Given the description of an element on the screen output the (x, y) to click on. 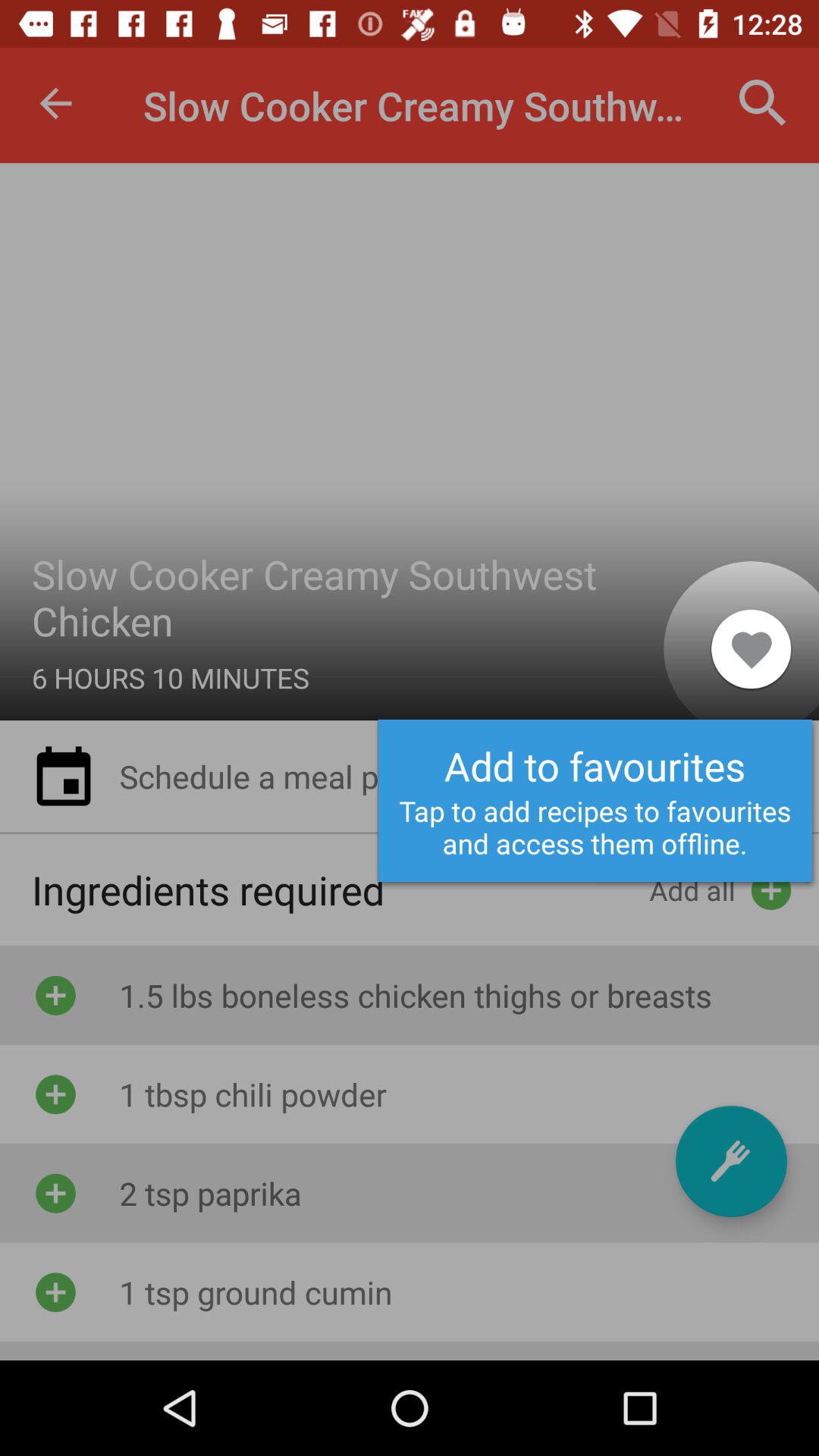
turn on the icon at the top left corner (55, 103)
